Given the description of an element on the screen output the (x, y) to click on. 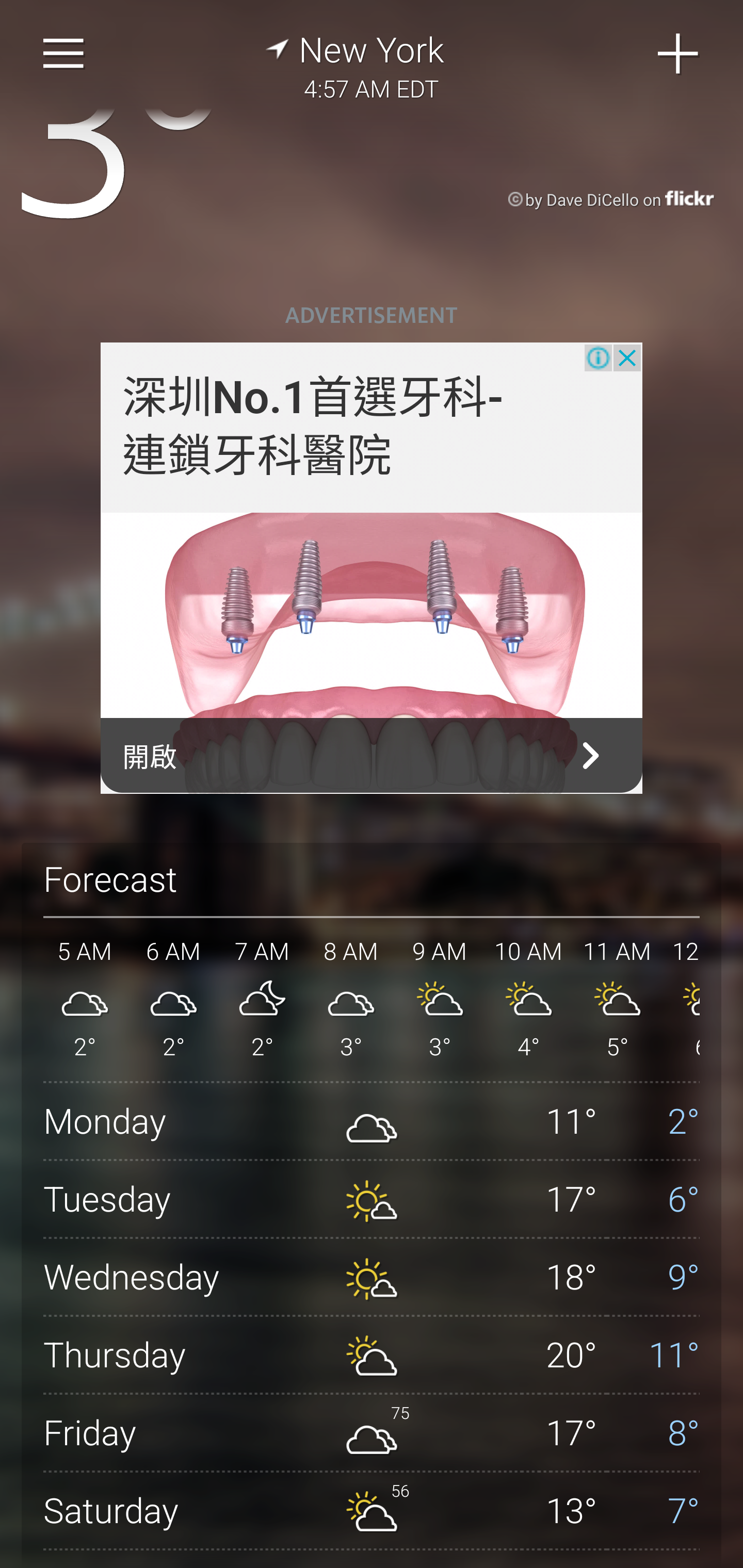
Sidebar (64, 54)
Add City (678, 53)
深圳No.1首選牙科- 連鎖牙科醫院 深圳No.1首選牙科- 
 連鎖牙科醫院 (313, 426)
GSUeodFNZ (371, 653)
開啟 (371, 755)
